Given the description of an element on the screen output the (x, y) to click on. 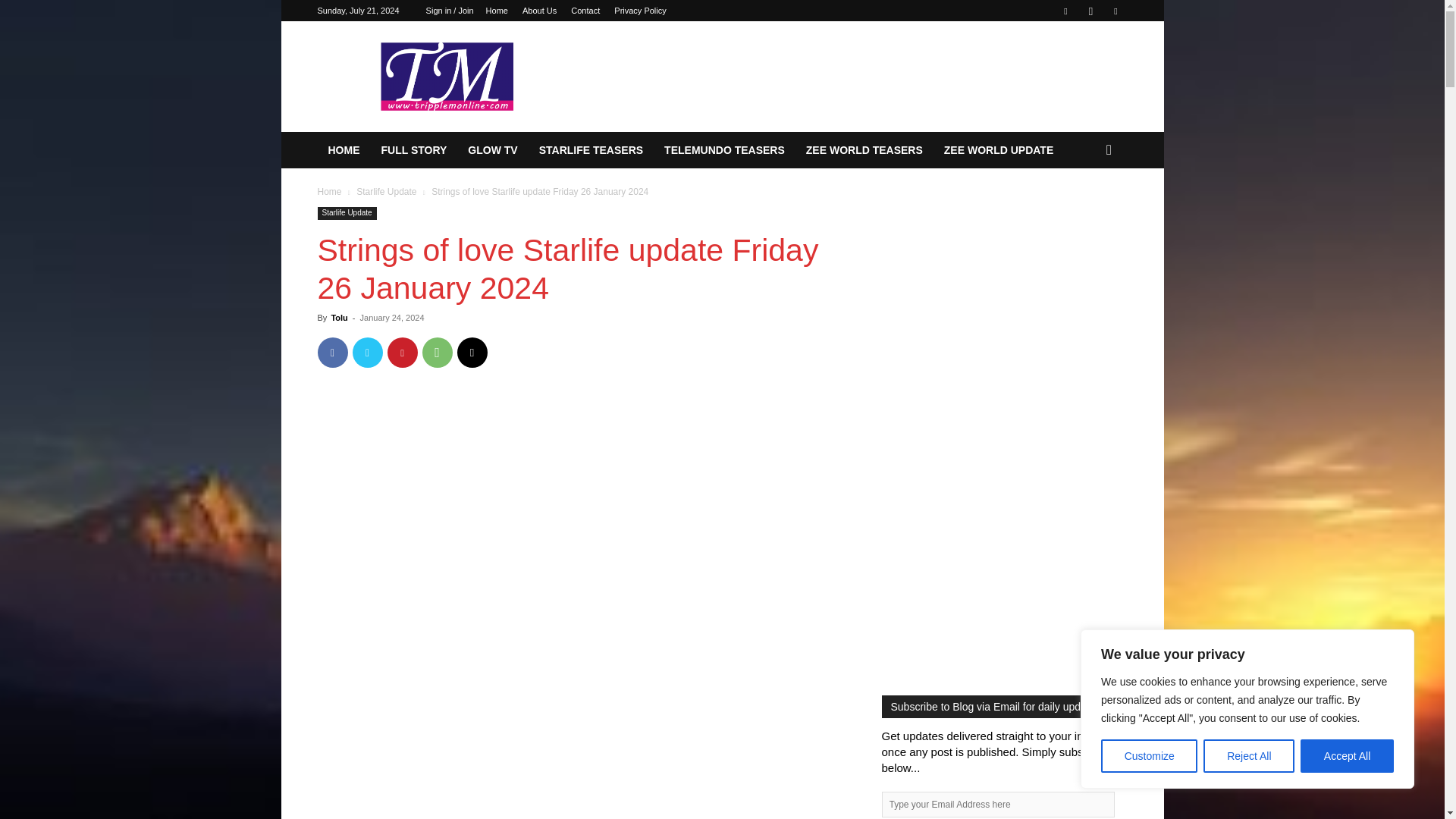
Customize (1148, 756)
Twitter (1114, 10)
WhatsApp (436, 352)
View all posts in Starlife Update (386, 191)
Twitter (366, 352)
Facebook (1065, 10)
Facebook (332, 352)
Home (497, 10)
About Us (539, 10)
Privacy Policy (639, 10)
Email (471, 352)
Advertisement (580, 509)
Advertisement (580, 729)
Reject All (1249, 756)
Instagram (1090, 10)
